Given the description of an element on the screen output the (x, y) to click on. 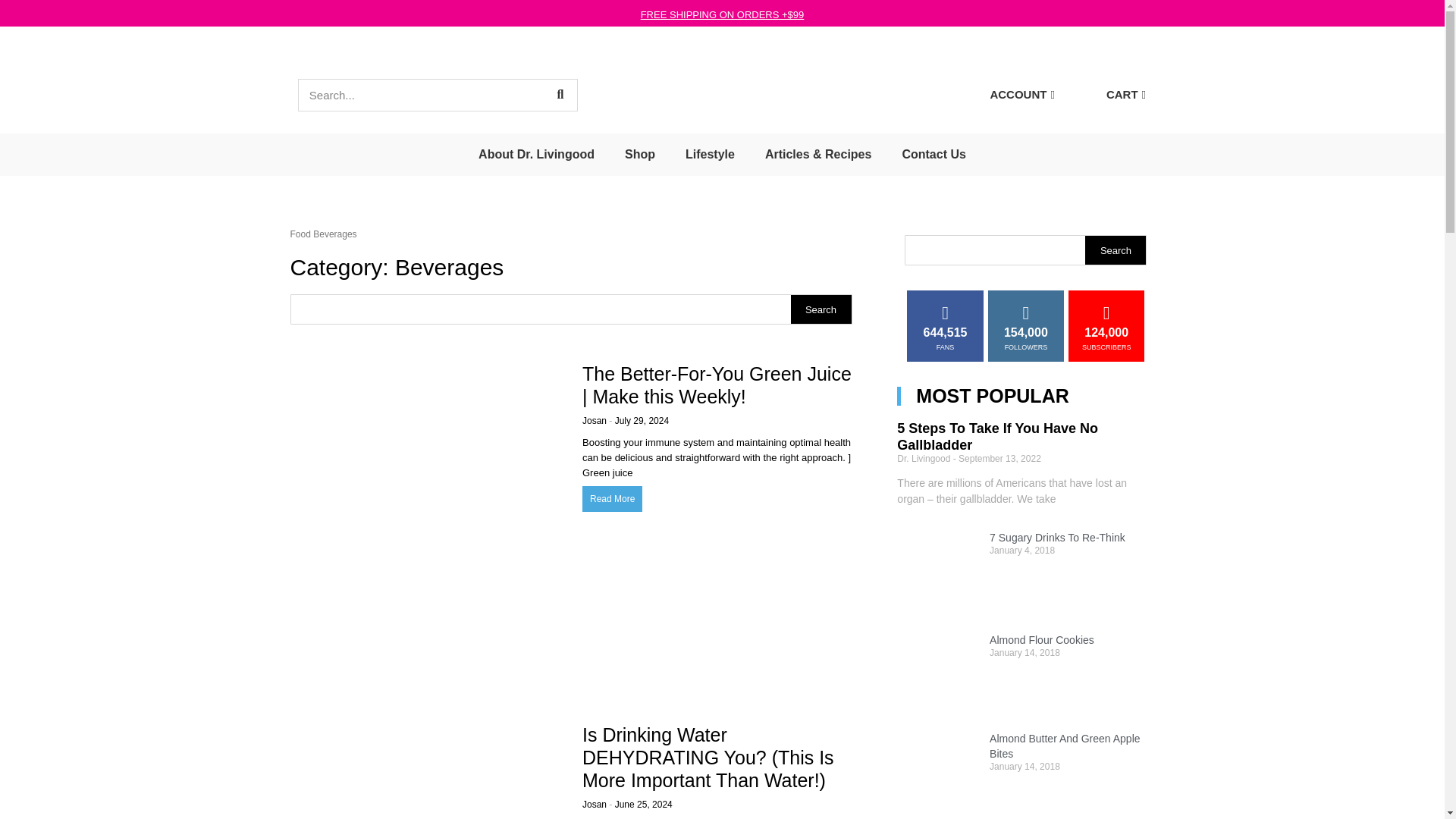
About Dr. Livingood (536, 154)
Shop (639, 154)
Lifestyle (709, 154)
CART (1125, 94)
ACCOUNT (1021, 94)
